Given the description of an element on the screen output the (x, y) to click on. 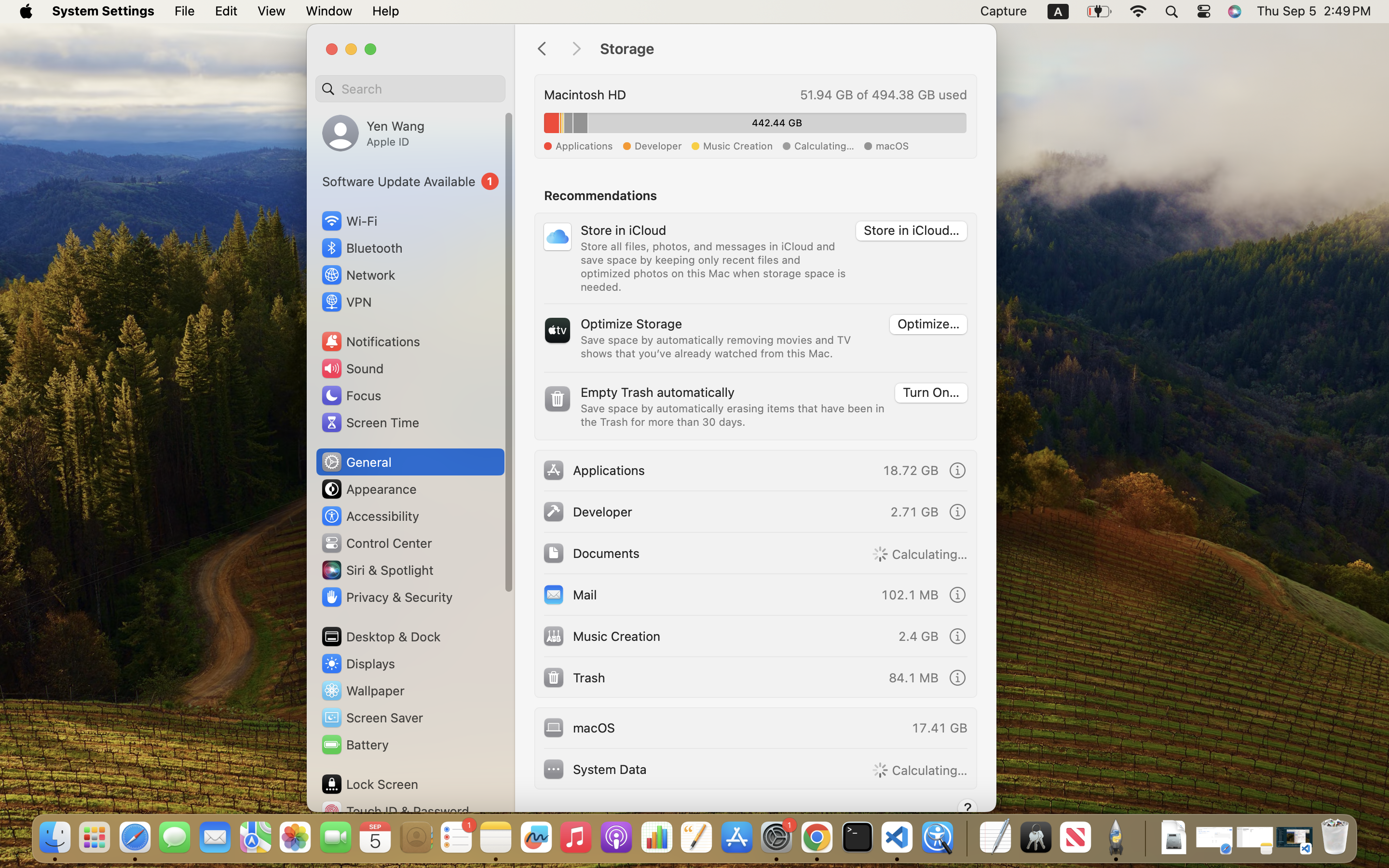
442.44 GB Element type: AXStaticText (777, 122)
Accessibility Element type: AXStaticText (369, 515)
Empty Trash automatically Element type: AXStaticText (657, 391)
84.1 MB Element type: AXStaticText (912, 676)
Music Creation Element type: AXStaticText (601, 635)
